Given the description of an element on the screen output the (x, y) to click on. 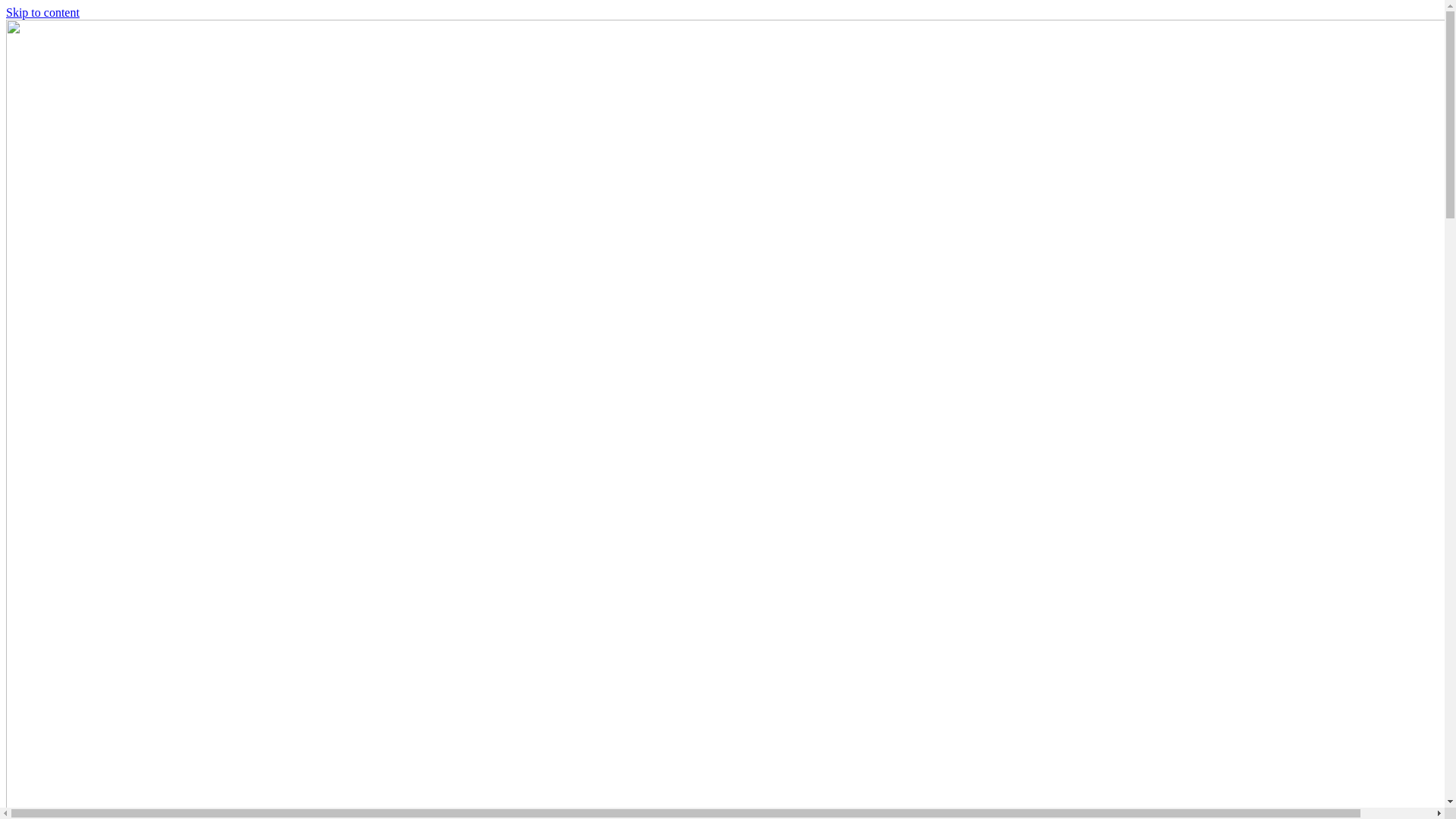
Skip to content Element type: text (42, 12)
